Given the description of an element on the screen output the (x, y) to click on. 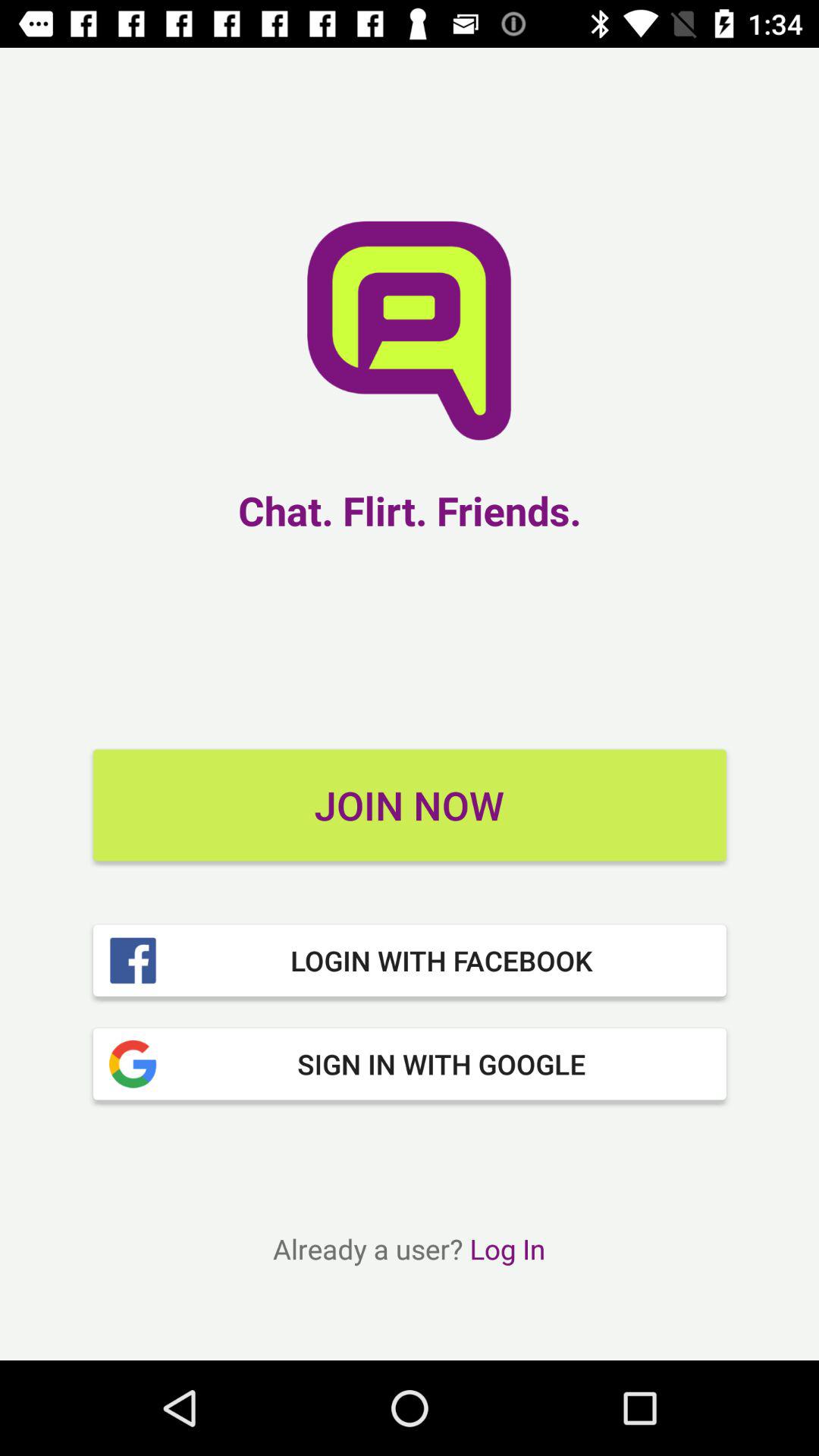
open join now item (409, 805)
